Given the description of an element on the screen output the (x, y) to click on. 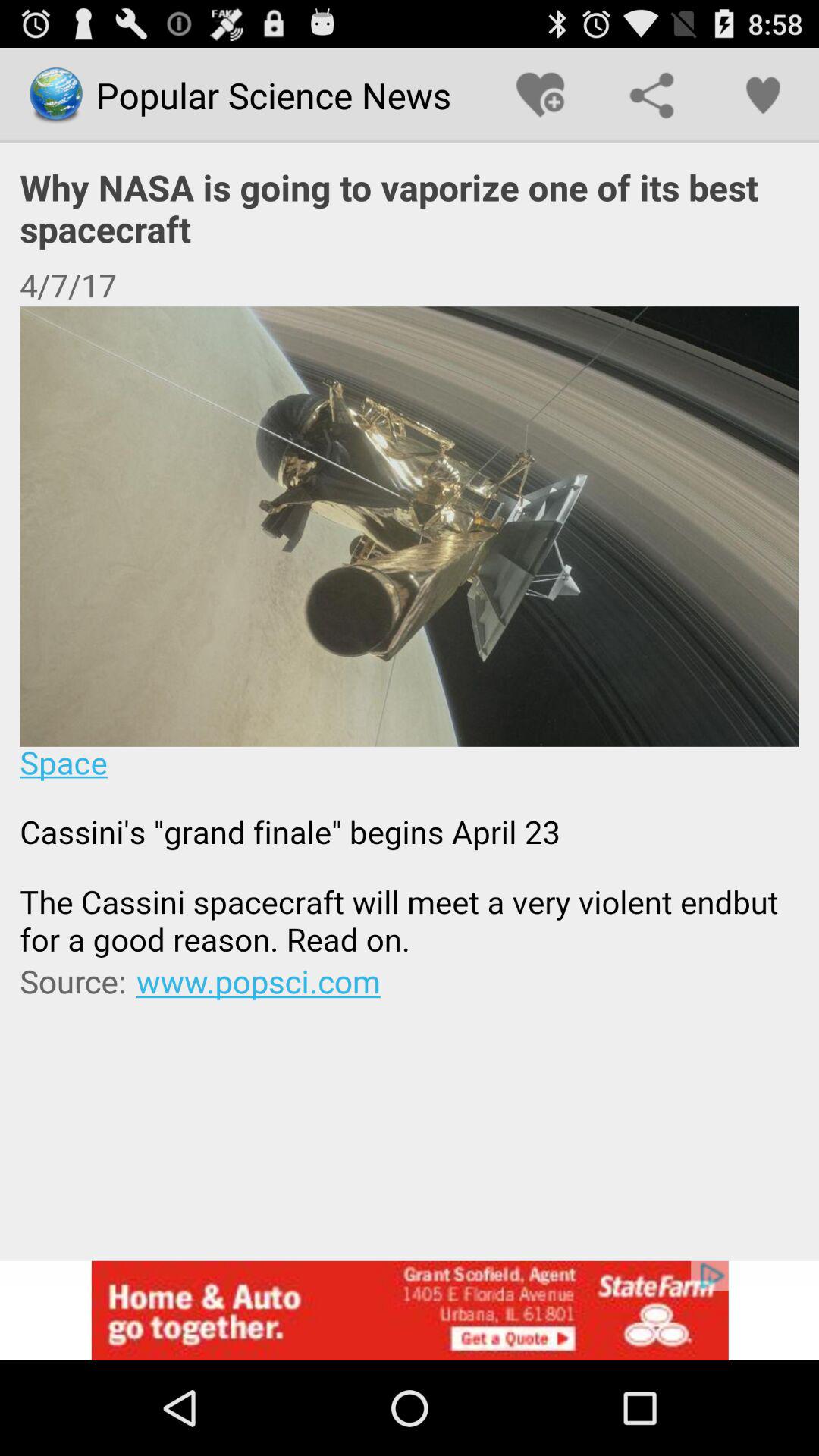
go to advertisement (409, 1310)
